Given the description of an element on the screen output the (x, y) to click on. 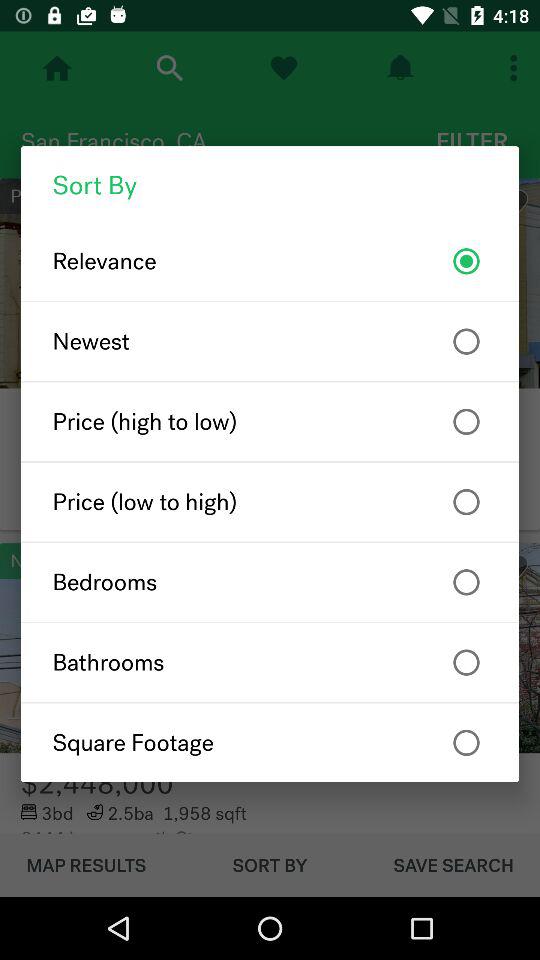
press item above the square footage item (270, 662)
